Given the description of an element on the screen output the (x, y) to click on. 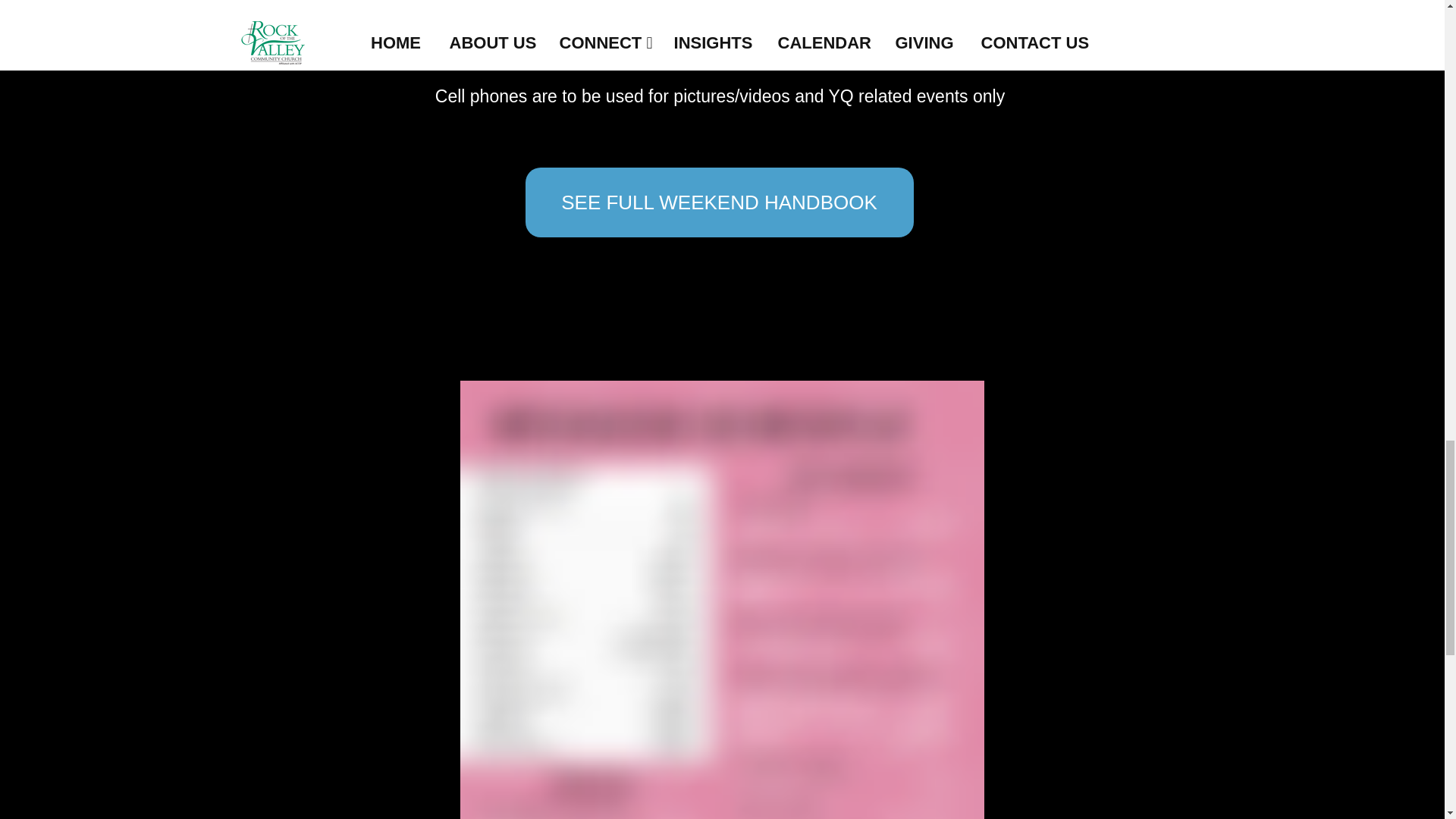
SEE FULL WEEKEND HANDBOOK (718, 202)
